Given the description of an element on the screen output the (x, y) to click on. 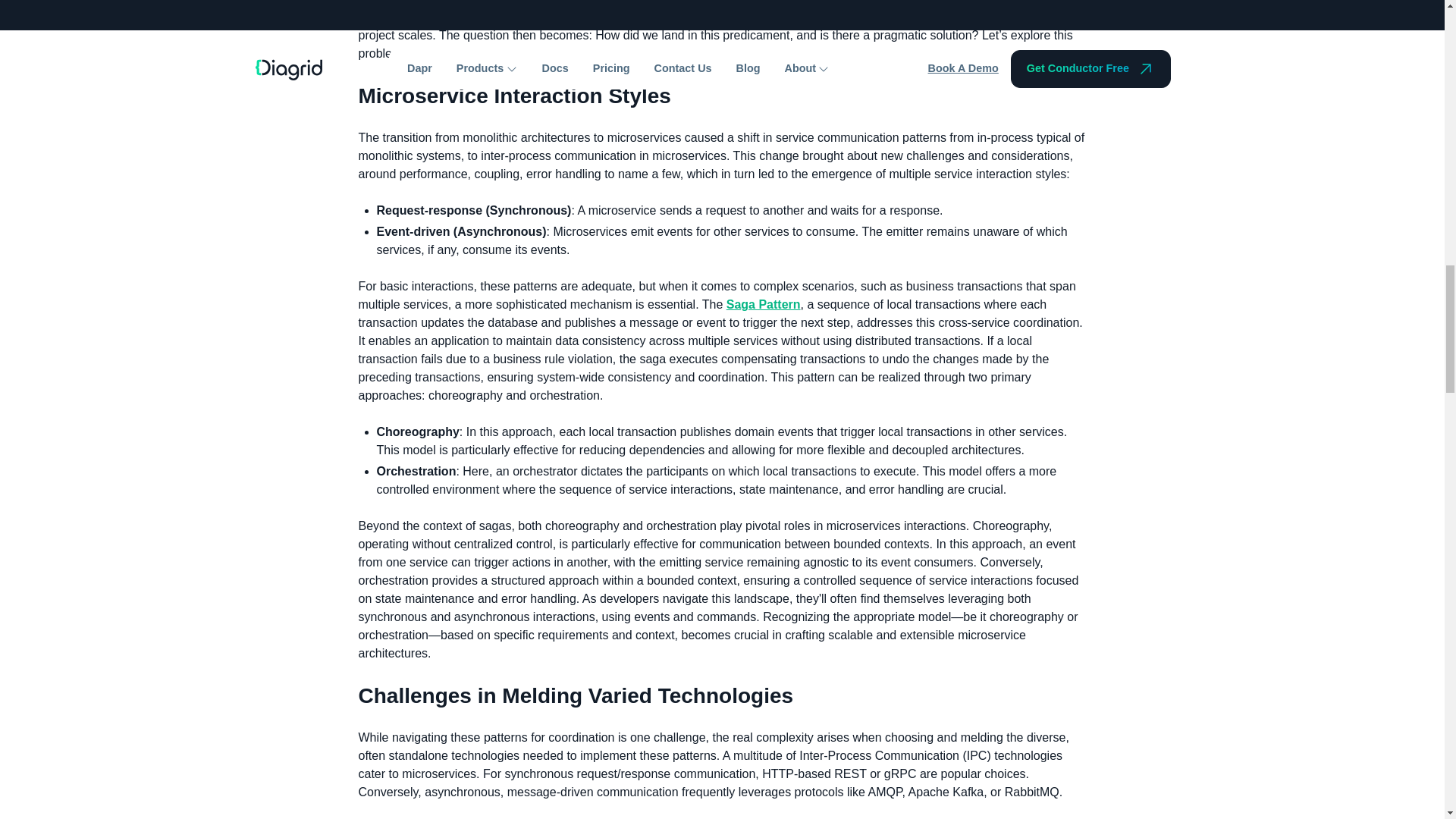
Saga Pattern (763, 304)
